Given the description of an element on the screen output the (x, y) to click on. 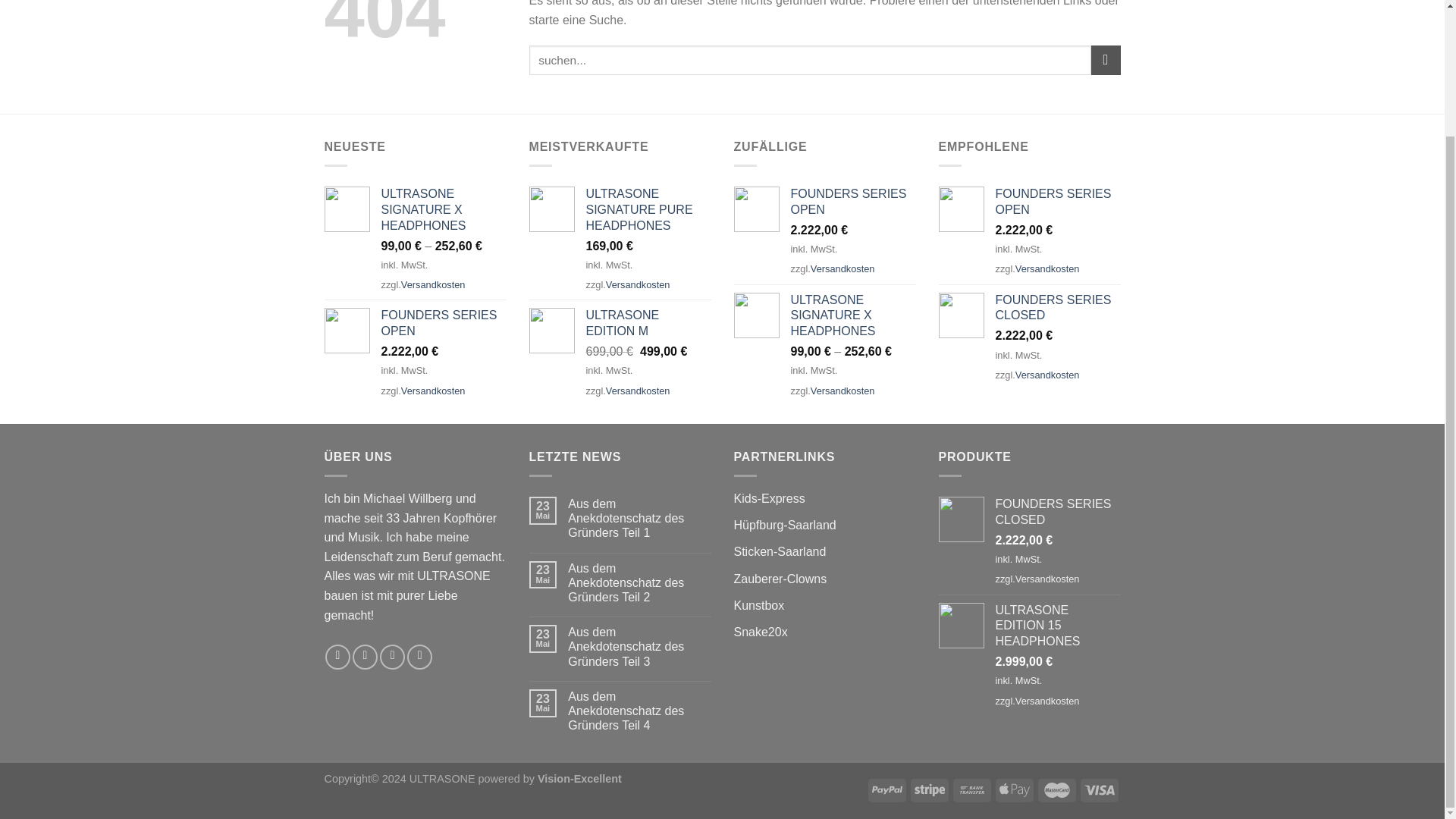
Auf Instagram folgen (364, 656)
Auf YouTube folgen (419, 656)
Versandkosten (637, 284)
ULTRASONE SIGNATURE PURE HEADPHONES (647, 209)
ULTRASONE SIGNATURE X HEADPHONES (442, 209)
ULTRASONE SIGNATURE X HEADPHONES (852, 315)
ULTRASONE EDITION M (647, 323)
Auf Facebook folgen (337, 656)
Versandkosten (637, 390)
FOUNDERS SERIES OPEN (442, 323)
